Given the description of an element on the screen output the (x, y) to click on. 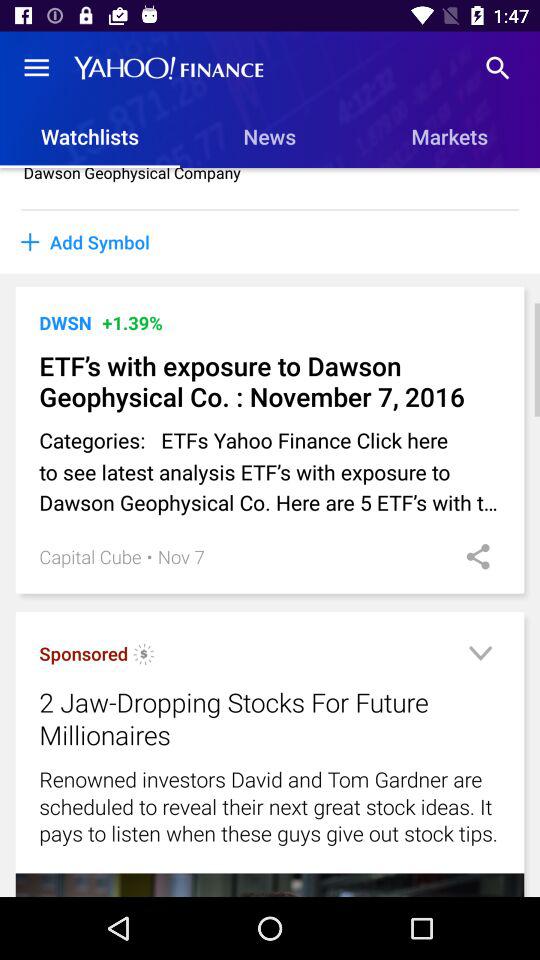
expand (480, 656)
